Given the description of an element on the screen output the (x, y) to click on. 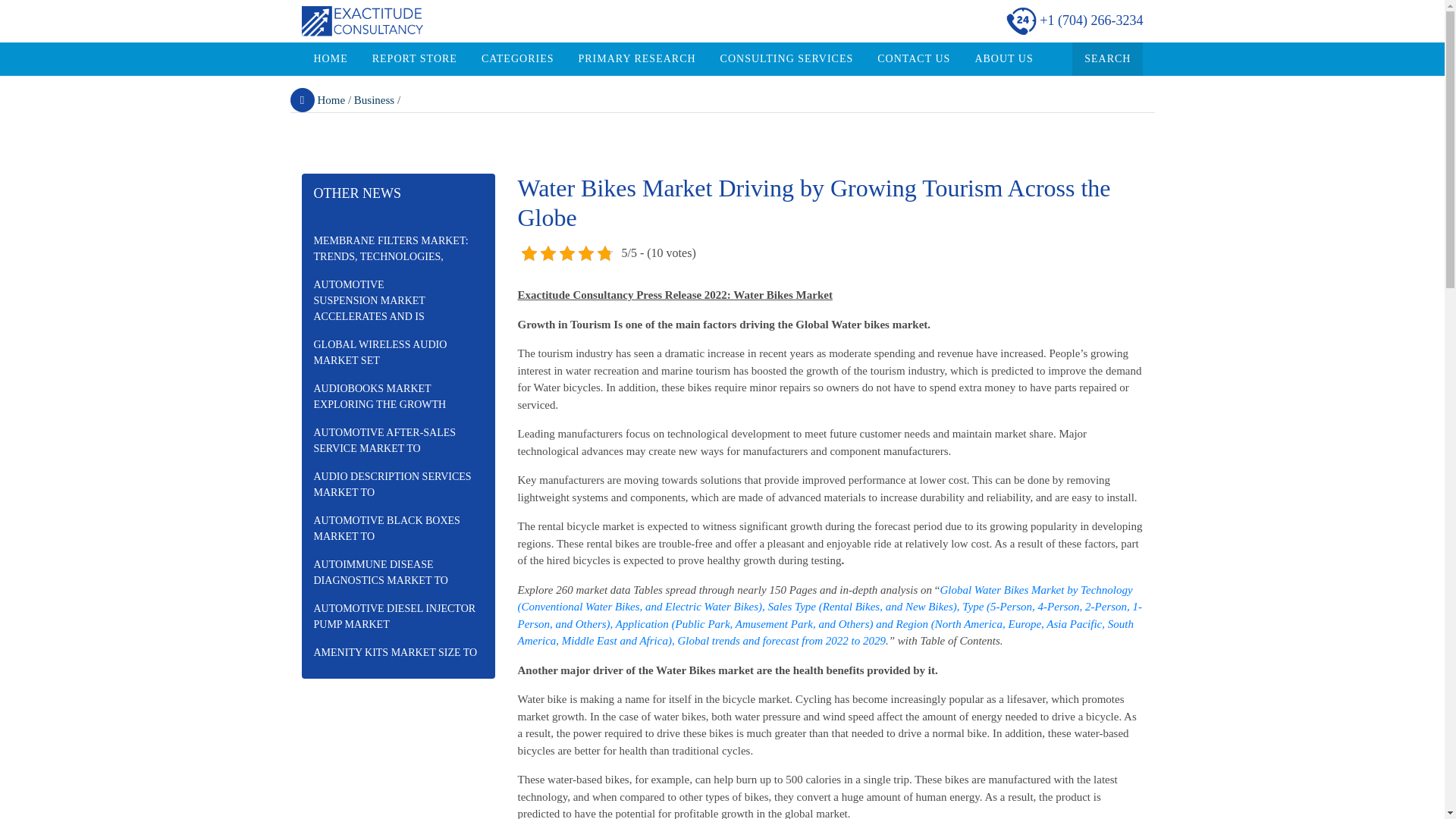
Home (317, 100)
AUTOMOTIVE DIESEL INJECTOR PUMP MARKET (398, 616)
REPORT STORE (413, 59)
AUTOMOTIVE BLACK BOXES MARKET TO (398, 528)
AUTOMOTIVE AFTER-SALES SERVICE MARKET TO (398, 440)
CONTACT US (913, 59)
CATEGORIES (517, 59)
Business (373, 100)
GLOBAL WIRELESS AUDIO MARKET SET (398, 352)
MEMBRANE FILTERS MARKET: TRENDS, TECHNOLOGIES, (398, 248)
AUTOIMMUNE DISEASE DIAGNOSTICS MARKET TO (398, 572)
AUDIO DESCRIPTION SERVICES MARKET TO (398, 484)
HOME (330, 59)
ABOUT US (1003, 59)
SEARCH (1106, 59)
